Given the description of an element on the screen output the (x, y) to click on. 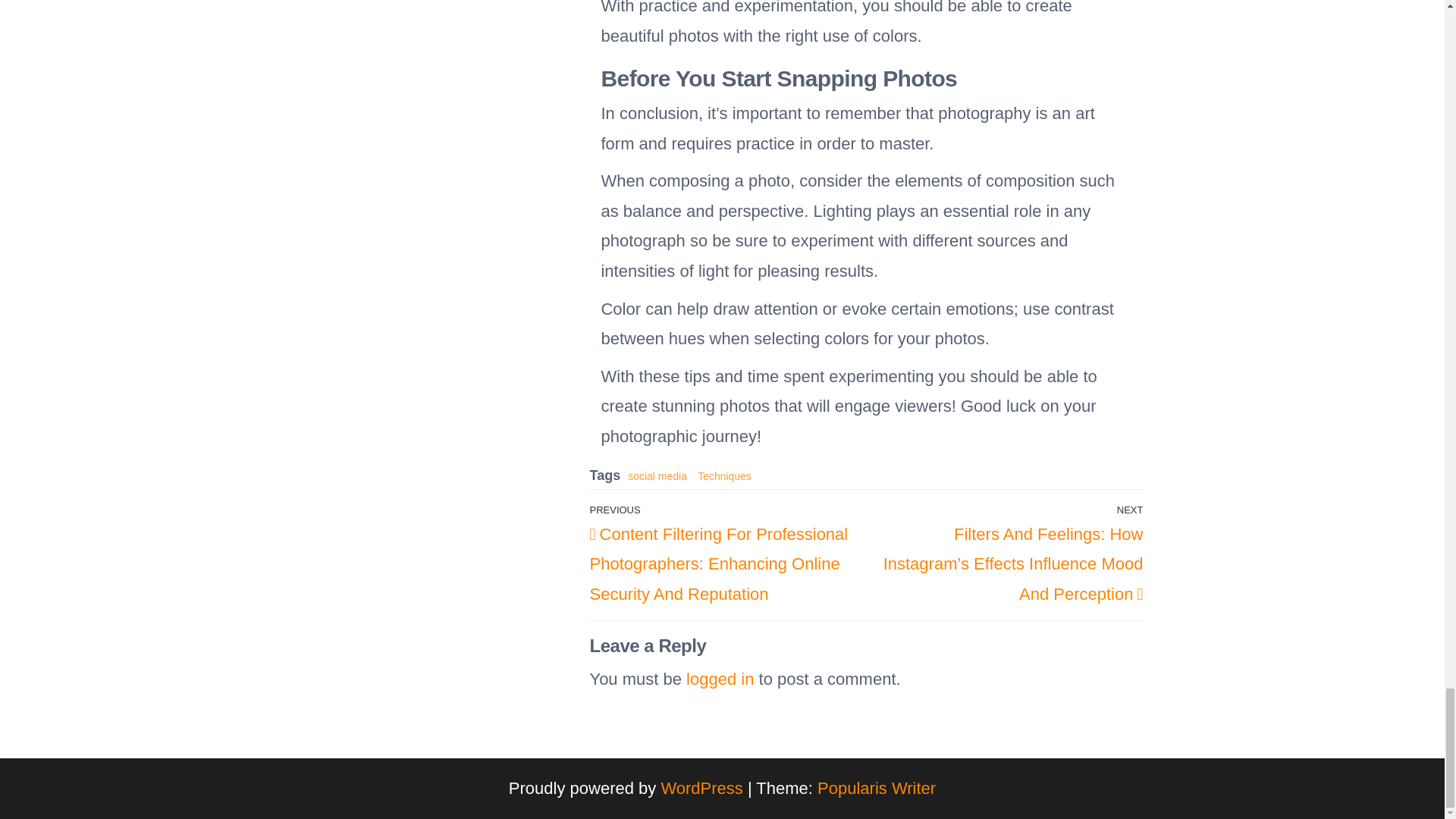
logged in (719, 678)
Techniques (724, 476)
social media (657, 476)
